Given the description of an element on the screen output the (x, y) to click on. 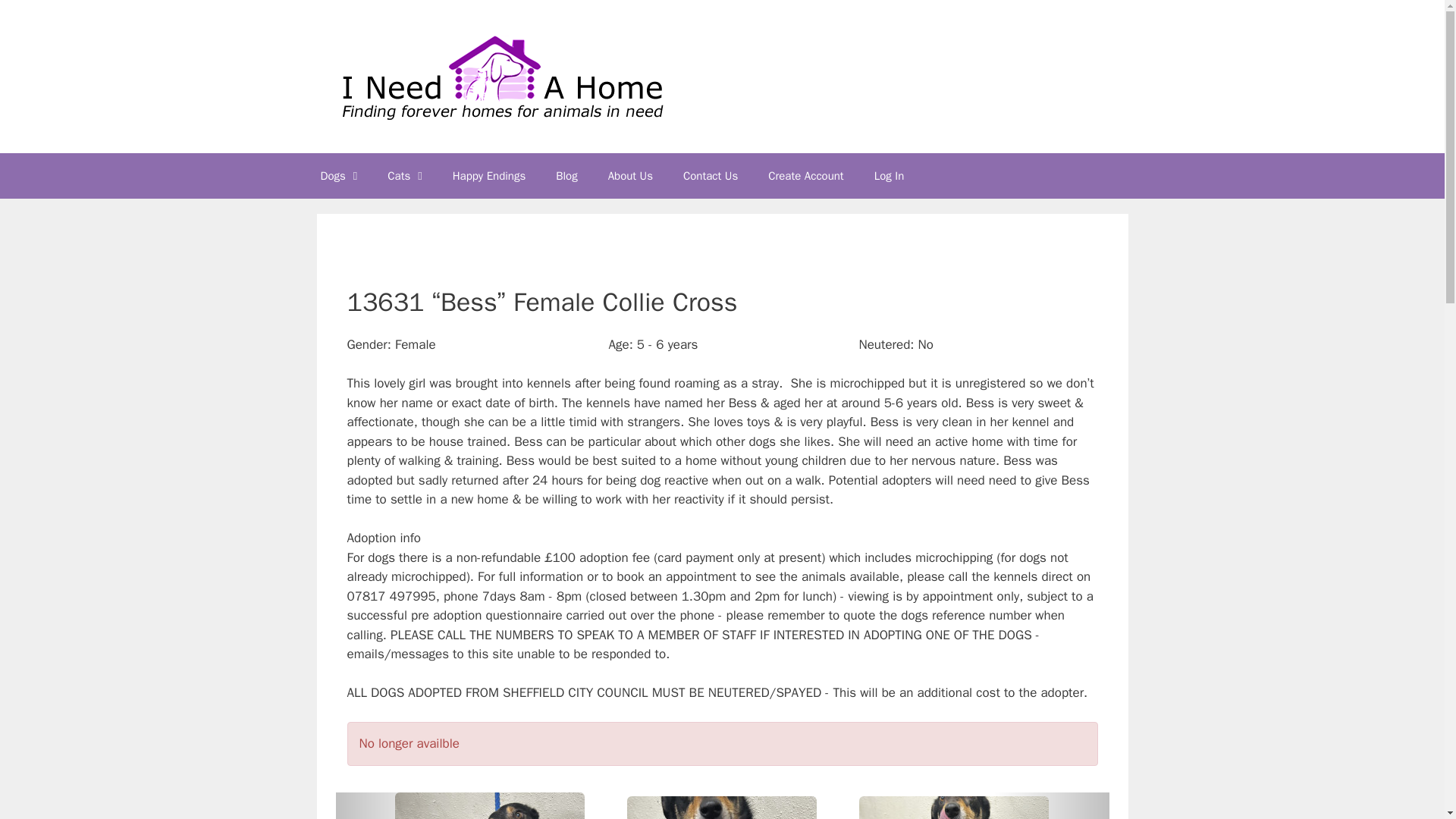
Blog (566, 176)
Contact Us (710, 176)
Dogs (338, 176)
Create Account (805, 176)
226207ED-3312-4CD9-844A-696379B0777D (721, 807)
3E6BDBF6-805A-4214-BD69-B57646C03D93 (489, 805)
I Need a Home (500, 75)
Cats (404, 176)
04A14BCE-066D-458B-B766-B2870024A07C (953, 807)
Happy Endings (489, 176)
